Given the description of an element on the screen output the (x, y) to click on. 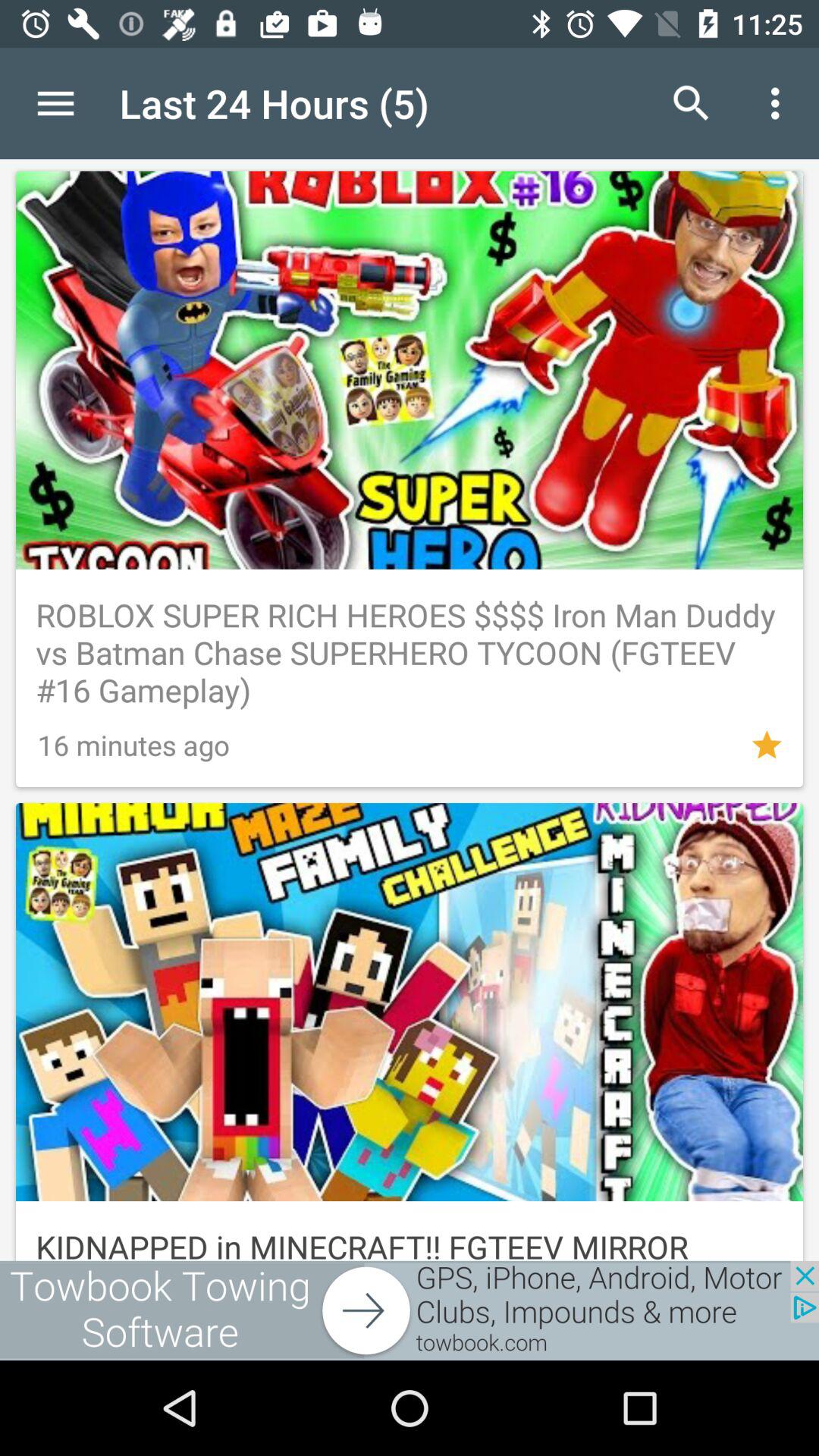
open webpage of displayed advertisement (409, 1310)
